Given the description of an element on the screen output the (x, y) to click on. 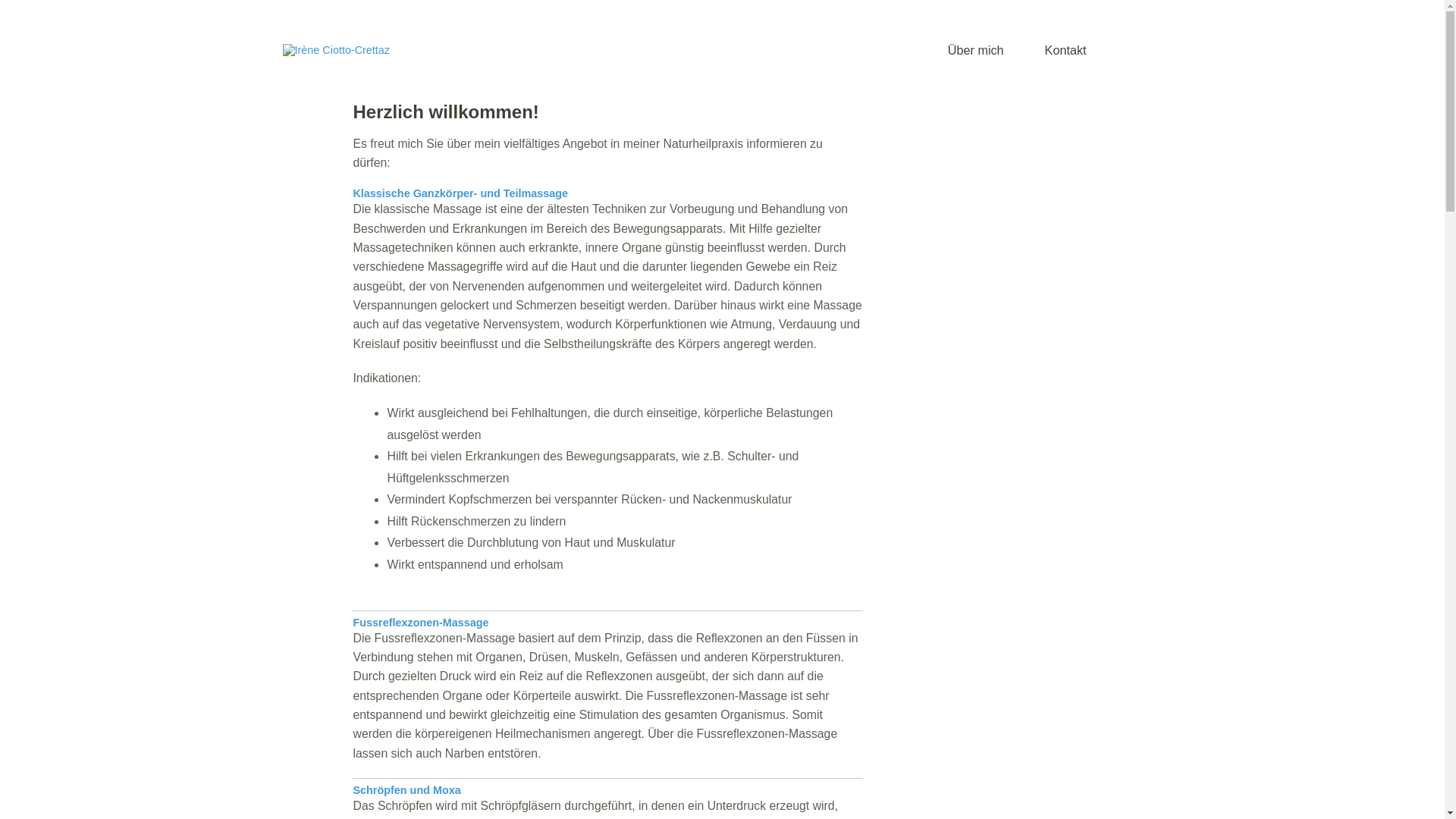
Kontakt Element type: text (1065, 56)
Fussreflexzonen-Massage Element type: text (420, 622)
